Given the description of an element on the screen output the (x, y) to click on. 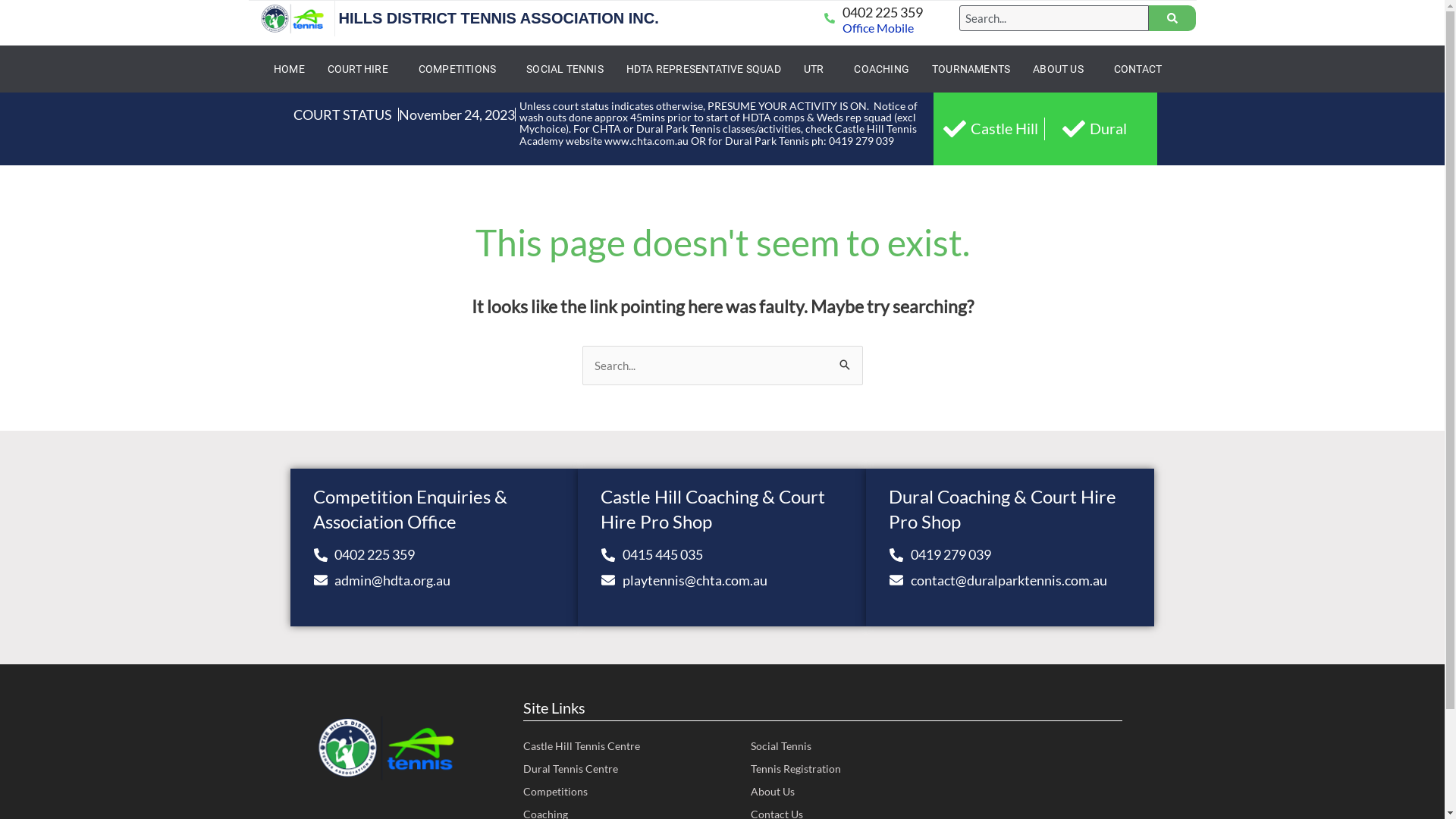
Dural Tennis Centre Element type: text (633, 768)
COMPETITIONS Element type: text (460, 68)
TOURNAMENTS Element type: text (970, 68)
ABOUT US Element type: text (1061, 68)
CONTACT Element type: text (1137, 68)
HOME Element type: text (289, 68)
0402 225 359 Element type: text (881, 11)
Castle Hill Tennis Centre Element type: text (633, 746)
Competitions Element type: text (633, 791)
SOCIAL TENNIS Element type: text (564, 68)
COURT HIRE Element type: text (361, 68)
0402 225 359 Element type: text (445, 554)
admin@hdta.org.au Element type: text (445, 579)
playtennis@chta.com.au Element type: text (733, 579)
About Us Element type: text (822, 791)
Tennis Registration Element type: text (822, 768)
0419 279 039 Element type: text (1021, 554)
HDTA REPRESENTATIVE SQUAD Element type: text (703, 68)
UTR Element type: text (817, 68)
COACHING Element type: text (881, 68)
Search Element type: text (845, 365)
0415 445 035 Element type: text (733, 554)
Social Tennis Element type: text (822, 746)
contact@duralparktennis.com.au Element type: text (1021, 579)
